Given the description of an element on the screen output the (x, y) to click on. 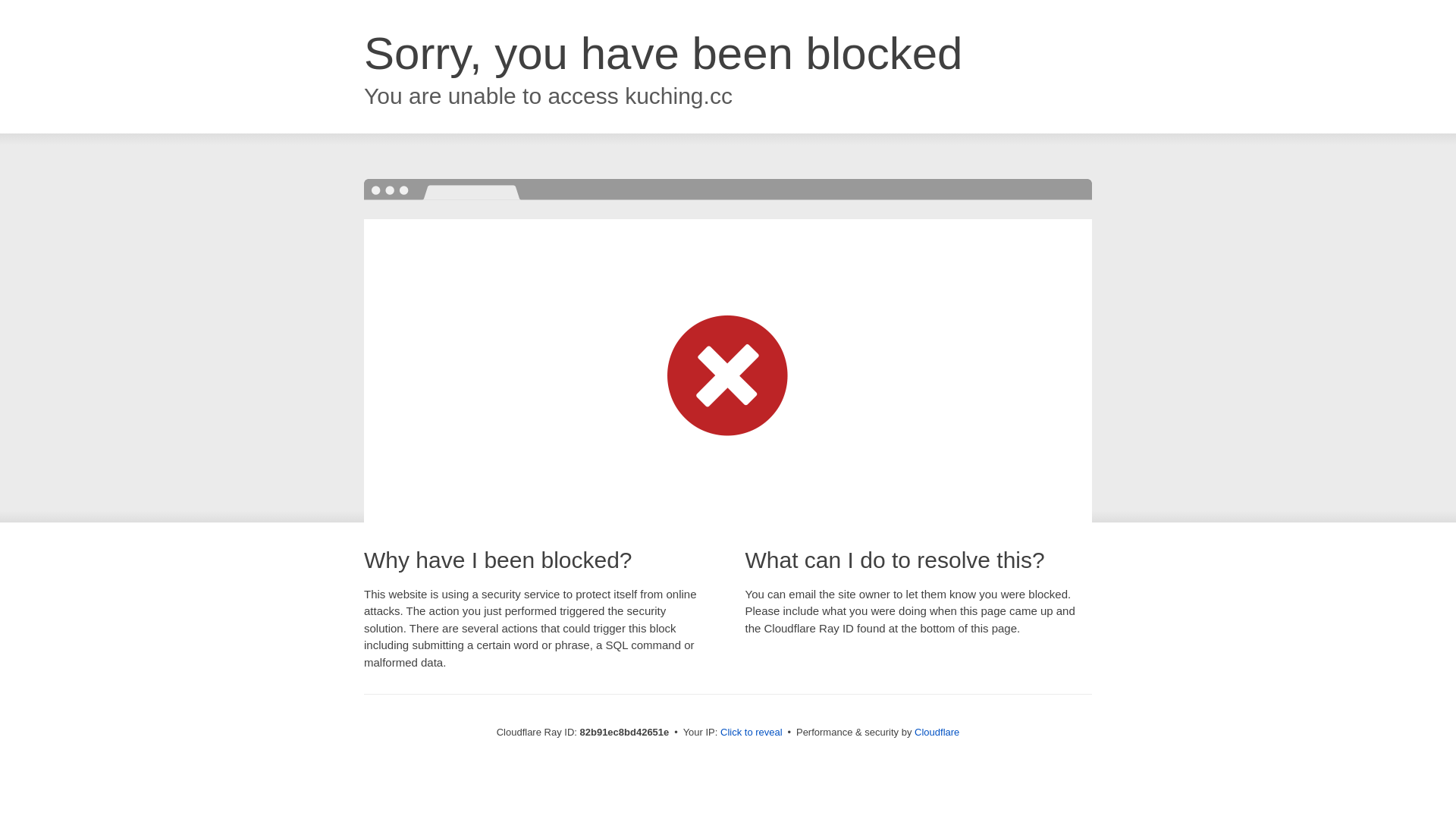
Cloudflare Element type: text (936, 731)
Click to reveal Element type: text (751, 732)
